Given the description of an element on the screen output the (x, y) to click on. 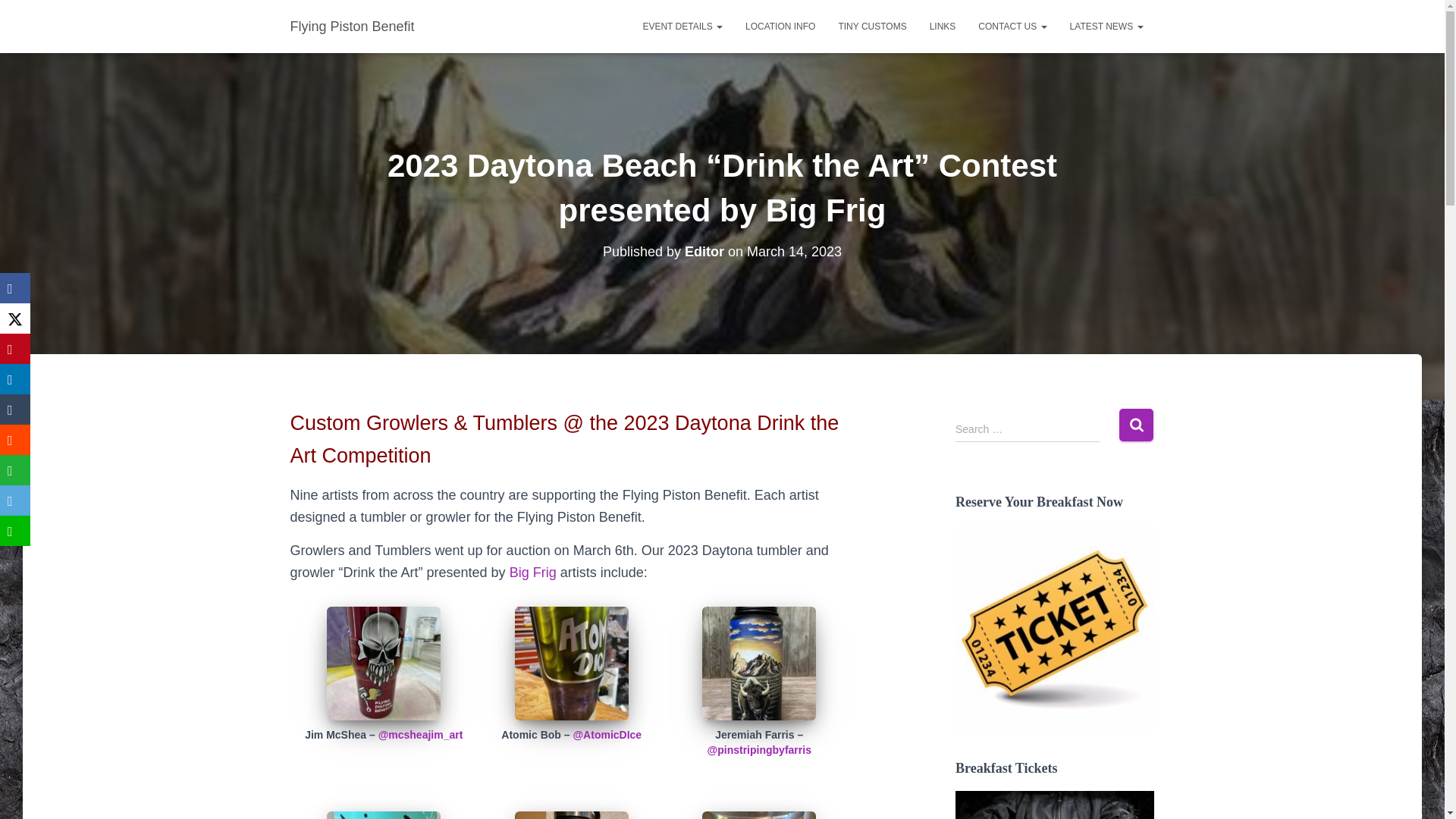
Flying Piston Benefit (352, 26)
LINKS (943, 26)
Editor (703, 251)
CONTACT US (1012, 26)
LATEST NEWS (1106, 26)
Tiny Customs (872, 26)
LOCATION INFO (780, 26)
Location Info (780, 26)
Flying Piston Benefit (352, 26)
Links (943, 26)
